Given the description of an element on the screen output the (x, y) to click on. 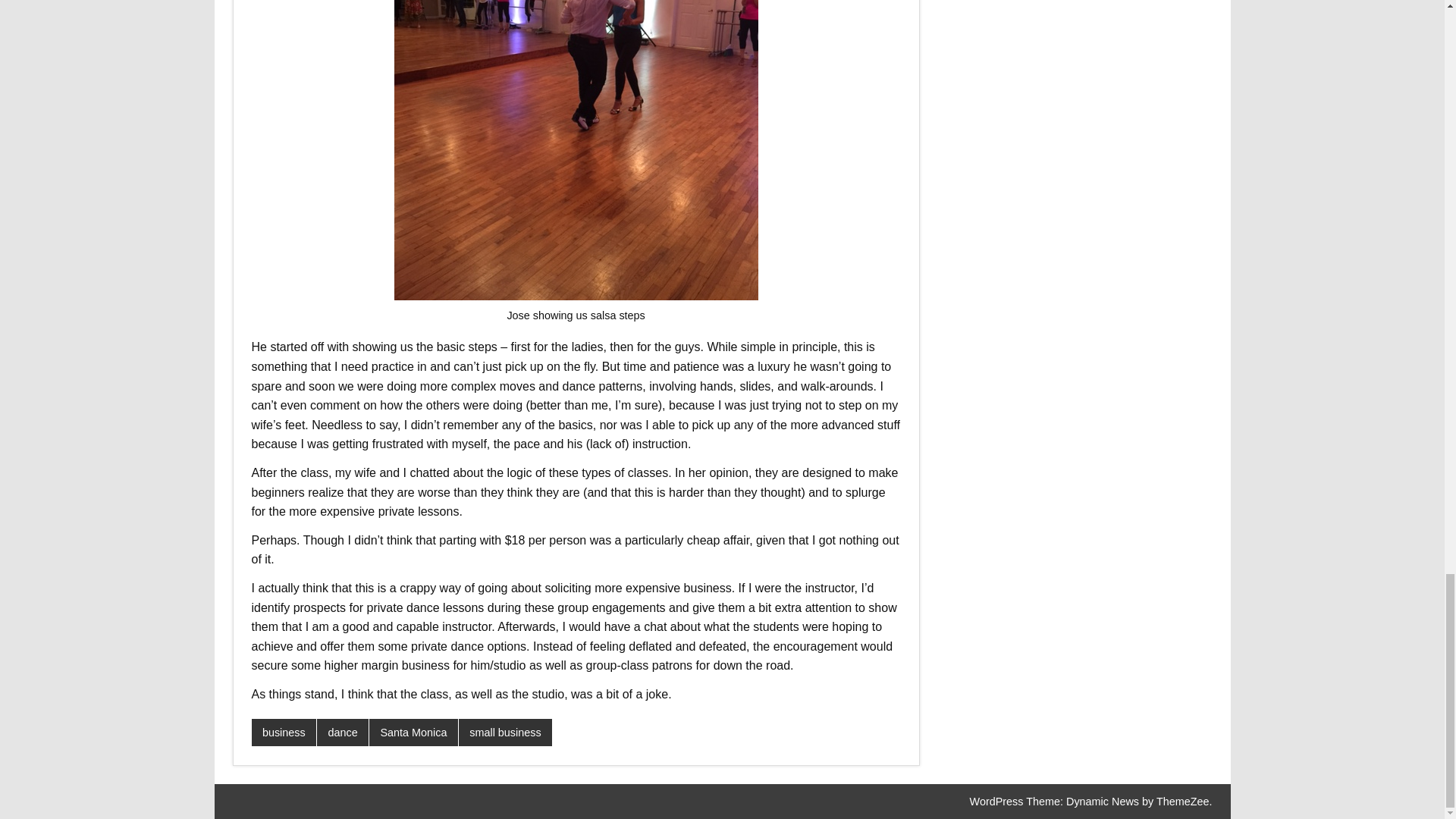
dance (342, 732)
Santa Monica (413, 732)
business (284, 732)
small business (504, 732)
